Given the description of an element on the screen output the (x, y) to click on. 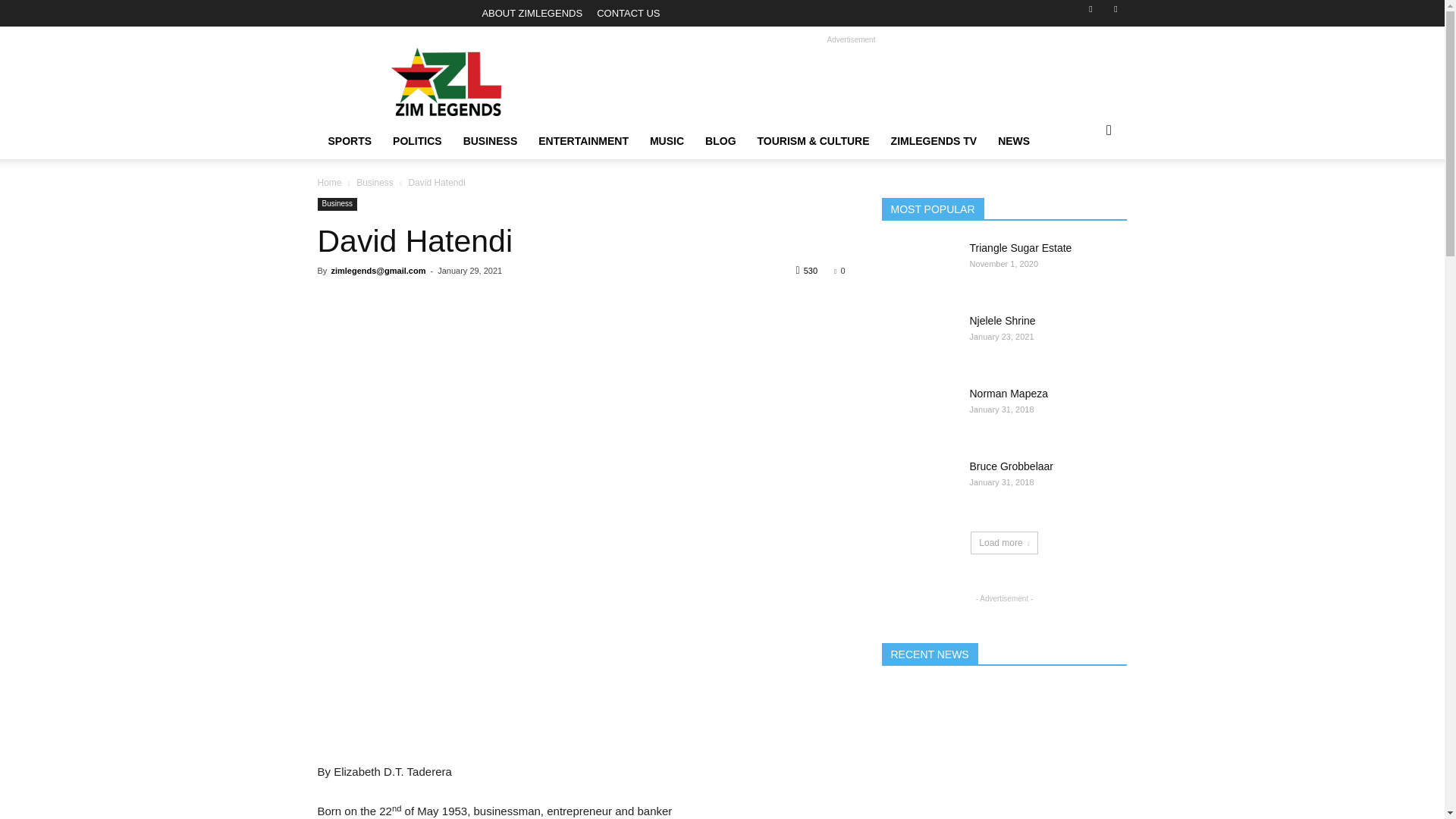
SPORTS (349, 140)
Twitter (1114, 13)
CONTACT US (627, 12)
Facebook (1090, 13)
ABOUT ZIMLEGENDS (531, 12)
